Given the description of an element on the screen output the (x, y) to click on. 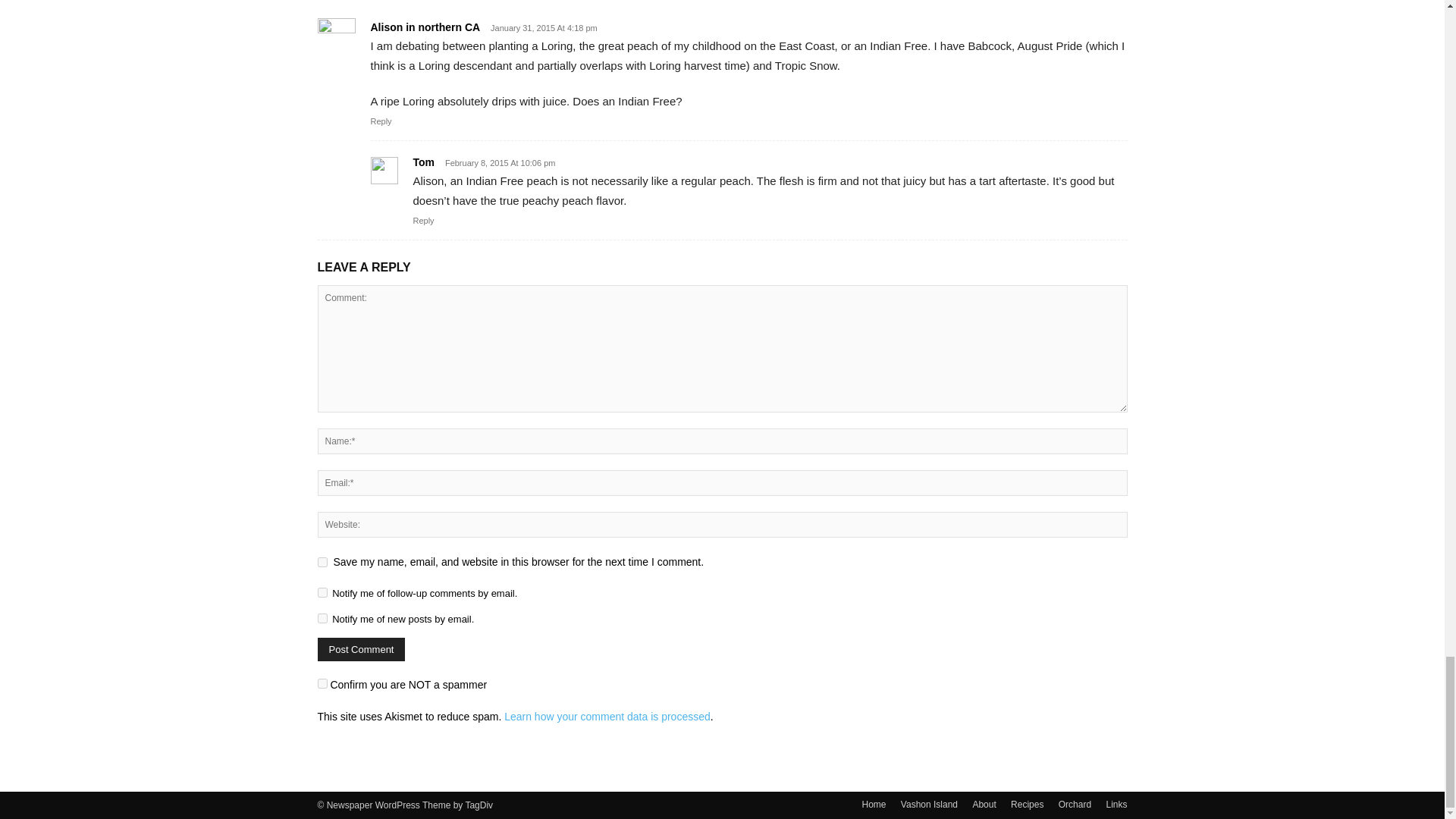
subscribe (321, 592)
yes (321, 562)
on (321, 683)
Post Comment (360, 649)
subscribe (321, 618)
